Given the description of an element on the screen output the (x, y) to click on. 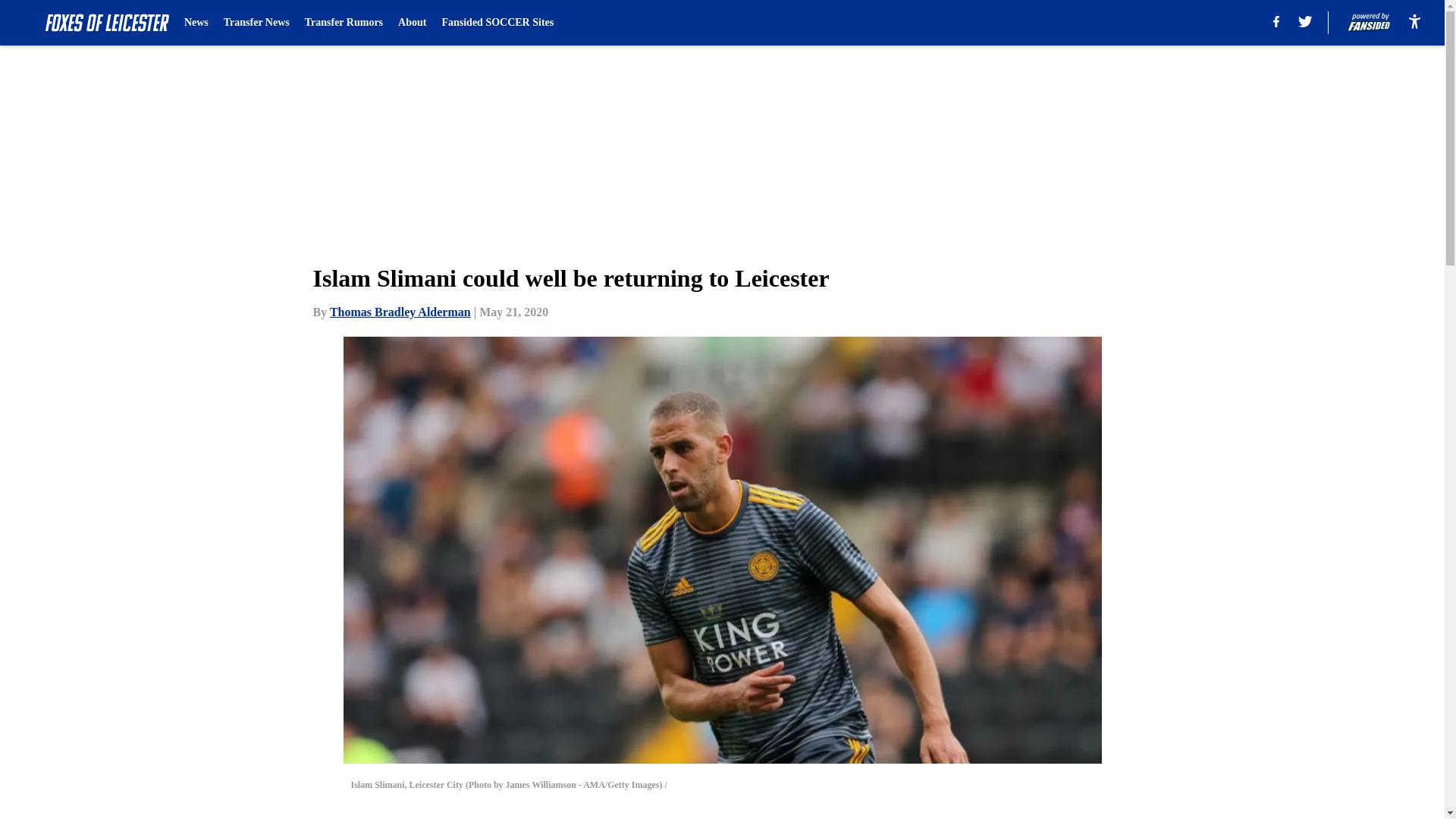
Transfer News (256, 22)
Transfer Rumors (343, 22)
Fansided SOCCER Sites (497, 22)
Thomas Bradley Alderman (400, 311)
About (411, 22)
News (196, 22)
